Given the description of an element on the screen output the (x, y) to click on. 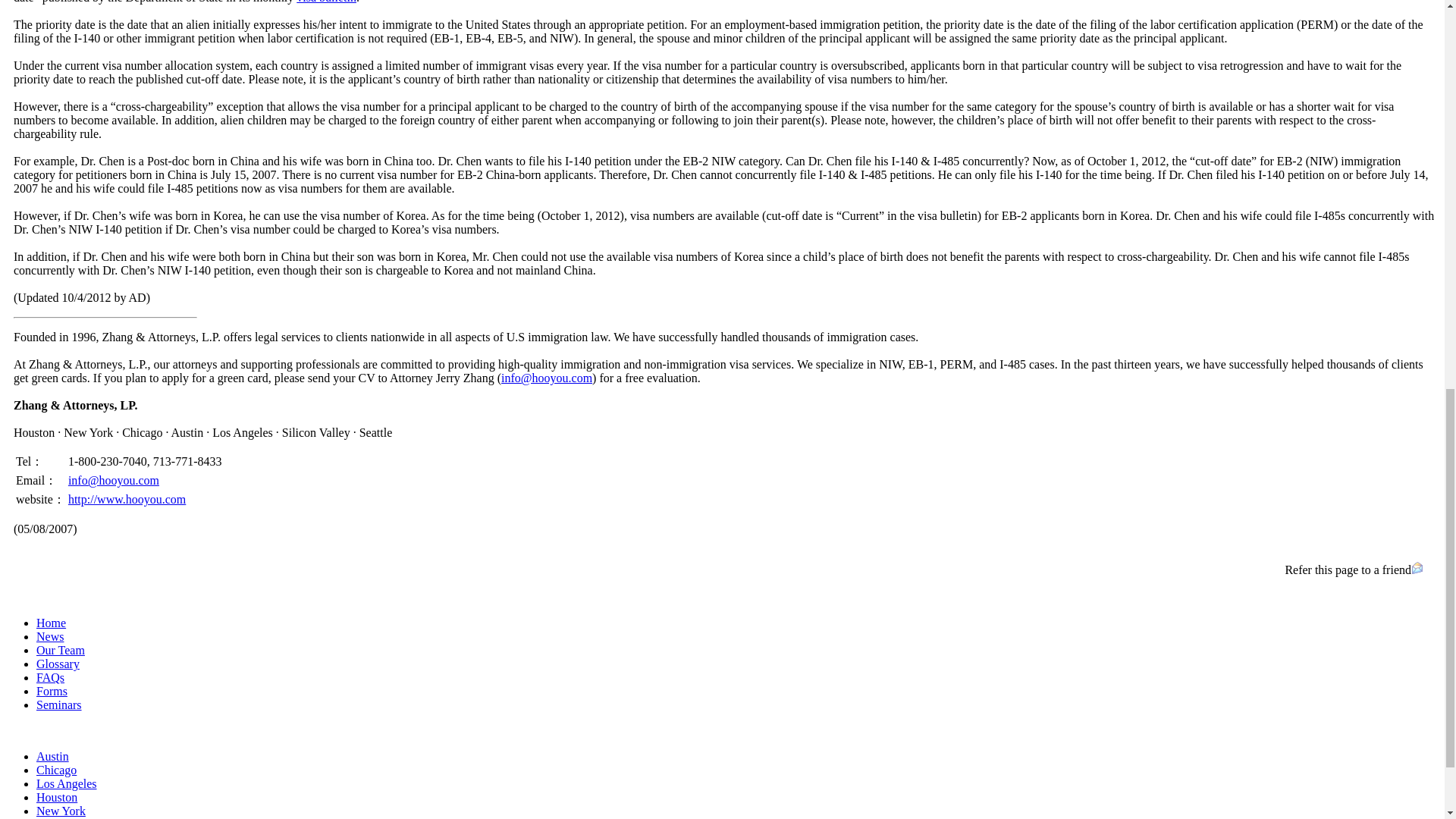
Refer this page to a friend (1347, 569)
visa bulletin (326, 2)
News (50, 635)
Houston (56, 797)
Forms (51, 690)
FAQs (50, 676)
Los Angeles (66, 783)
Home (50, 622)
Chicago (56, 769)
Austin (52, 756)
